Given the description of an element on the screen output the (x, y) to click on. 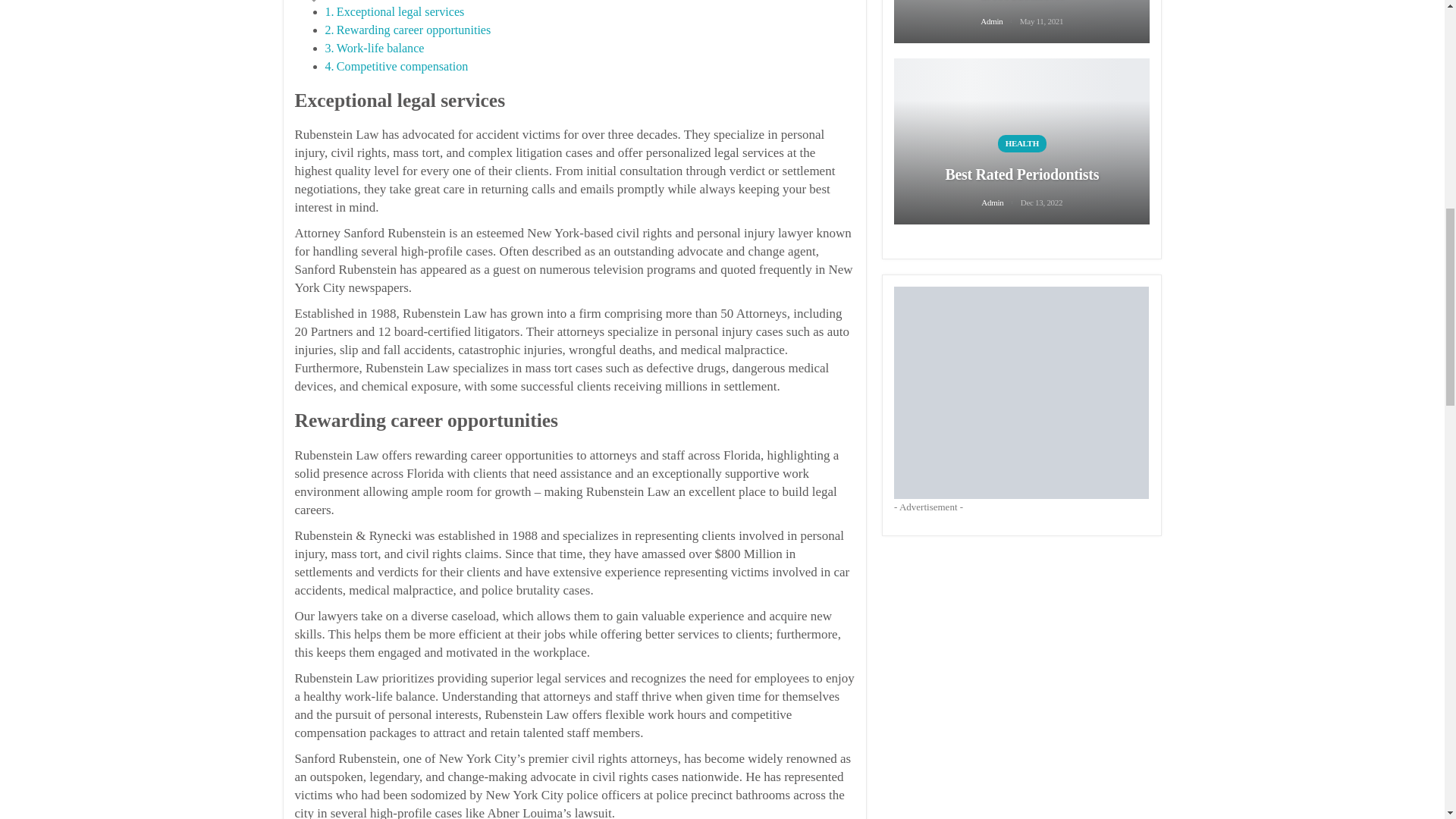
Exceptional legal services (400, 11)
Work-life balance (380, 47)
Competitive compensation (401, 65)
Rewarding career opportunities (413, 29)
